Given the description of an element on the screen output the (x, y) to click on. 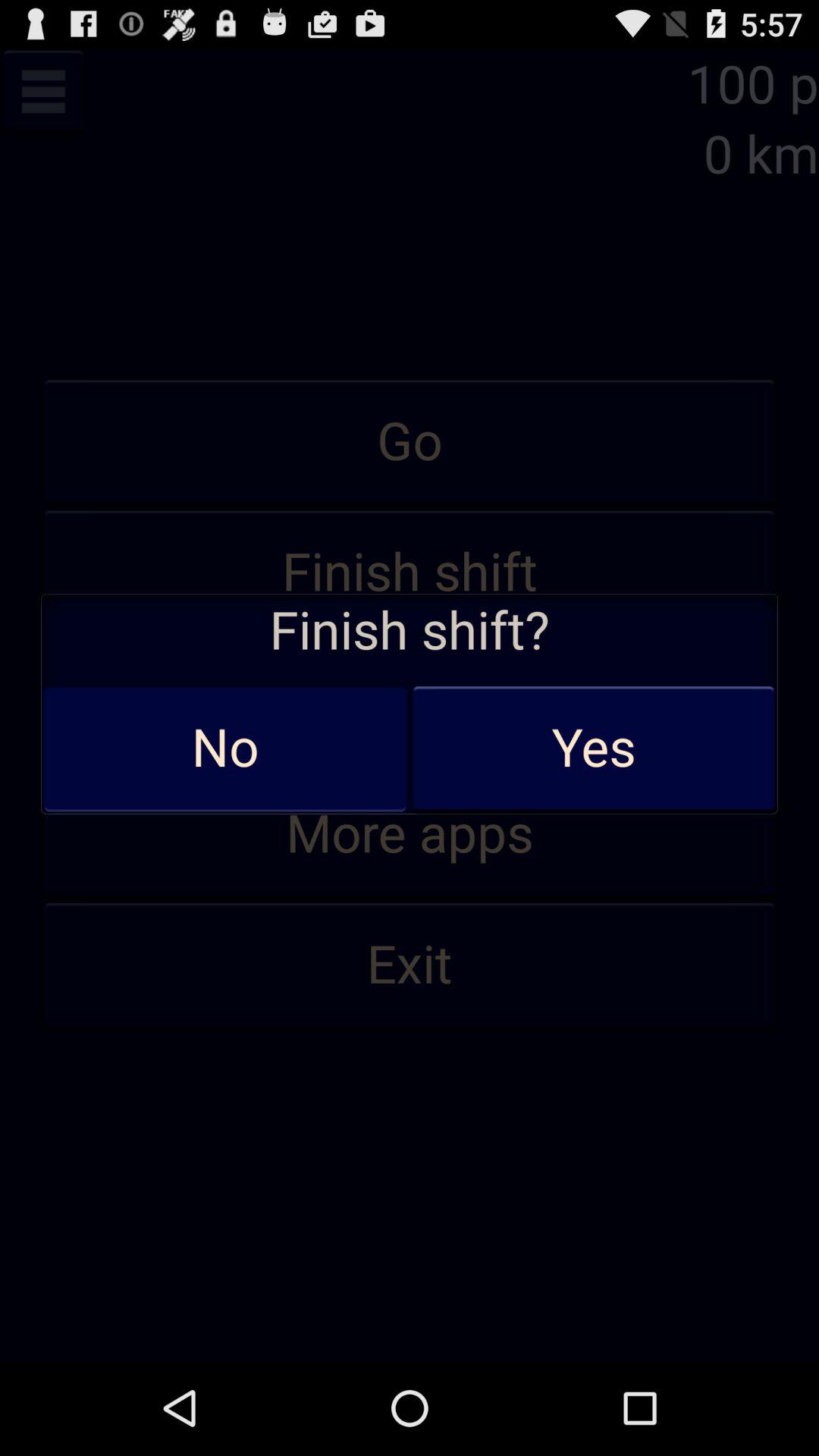
jump until the yes app (593, 748)
